Given the description of an element on the screen output the (x, y) to click on. 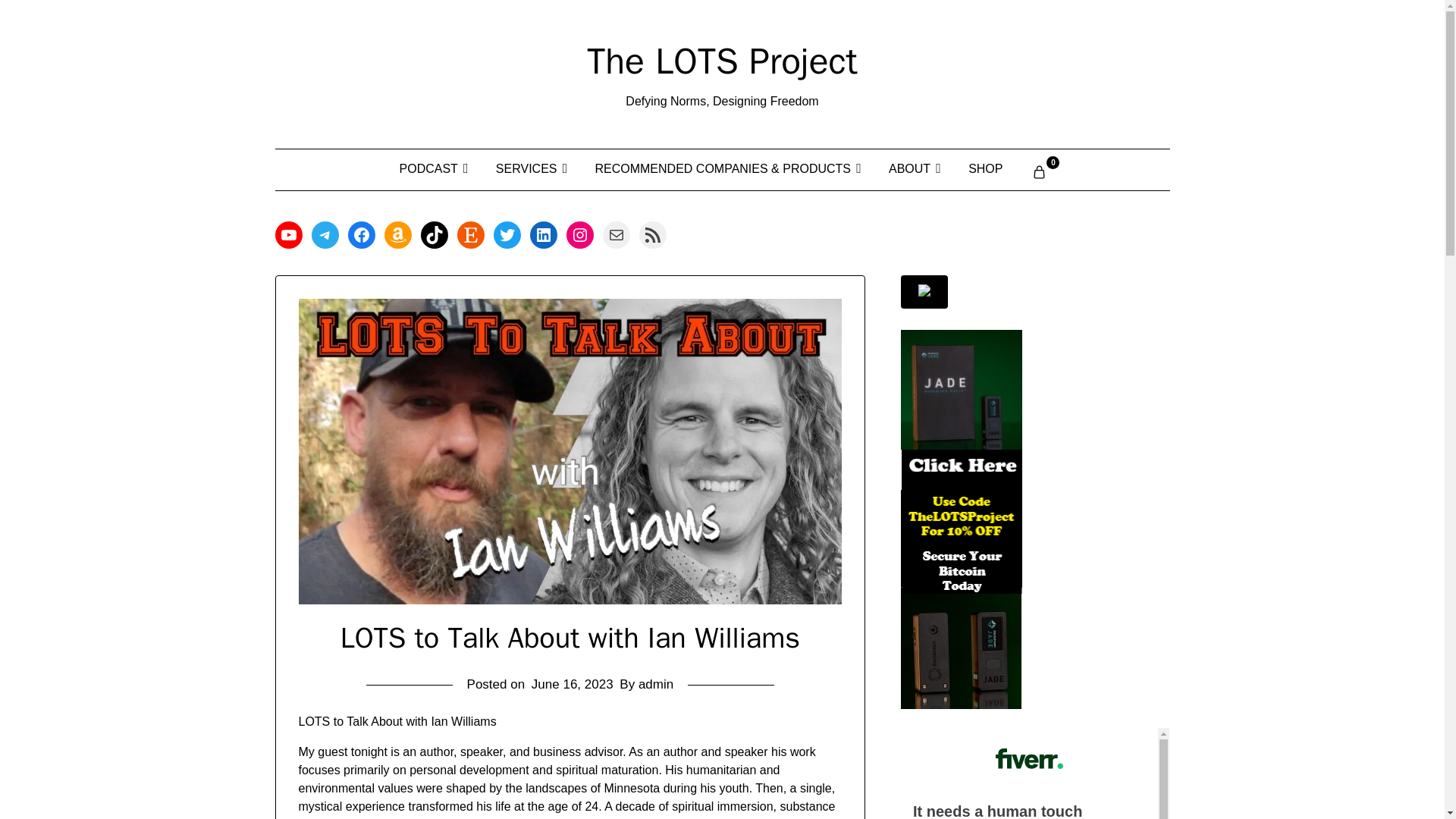
LinkedIn (542, 234)
Etsy (470, 234)
SHOP (985, 168)
The LOTS Project (721, 61)
SERVICES (530, 168)
TikTok (433, 234)
0 (1038, 169)
PODCAST (432, 168)
Telegram (324, 234)
Amazon (397, 234)
View your shopping cart (1038, 169)
June 16, 2023 (571, 684)
RSS Feed (652, 234)
ABOUT (913, 168)
YouTube (288, 234)
